Given the description of an element on the screen output the (x, y) to click on. 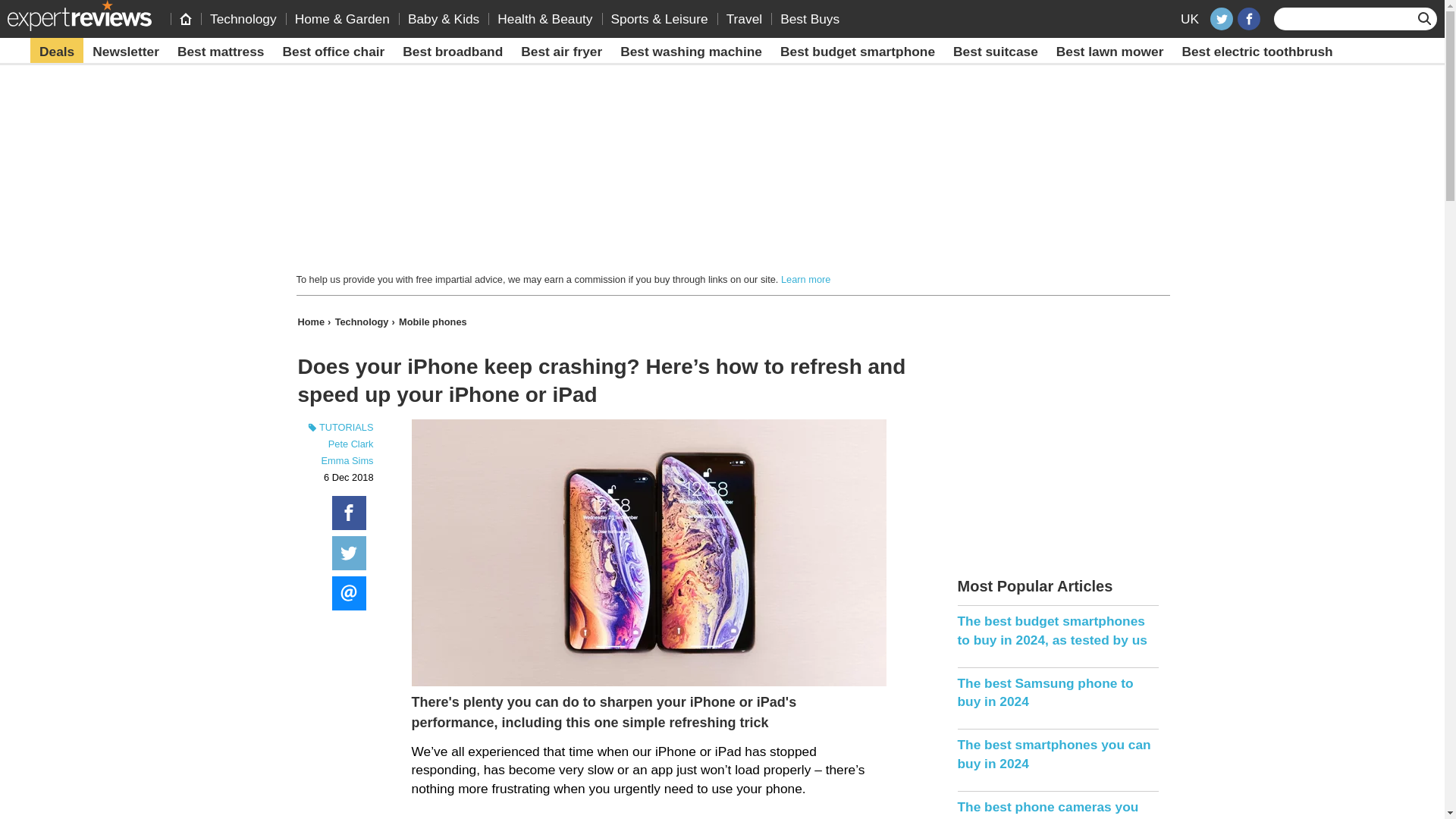
Expert Reviews (79, 15)
Best electric toothbrush (1256, 51)
Newsletter (125, 51)
Best Buys (809, 18)
Start search (1425, 18)
Learn more (804, 279)
Technology (363, 321)
Best suitcase (994, 51)
Best broadband (452, 51)
Best air fryer (561, 51)
